Given the description of an element on the screen output the (x, y) to click on. 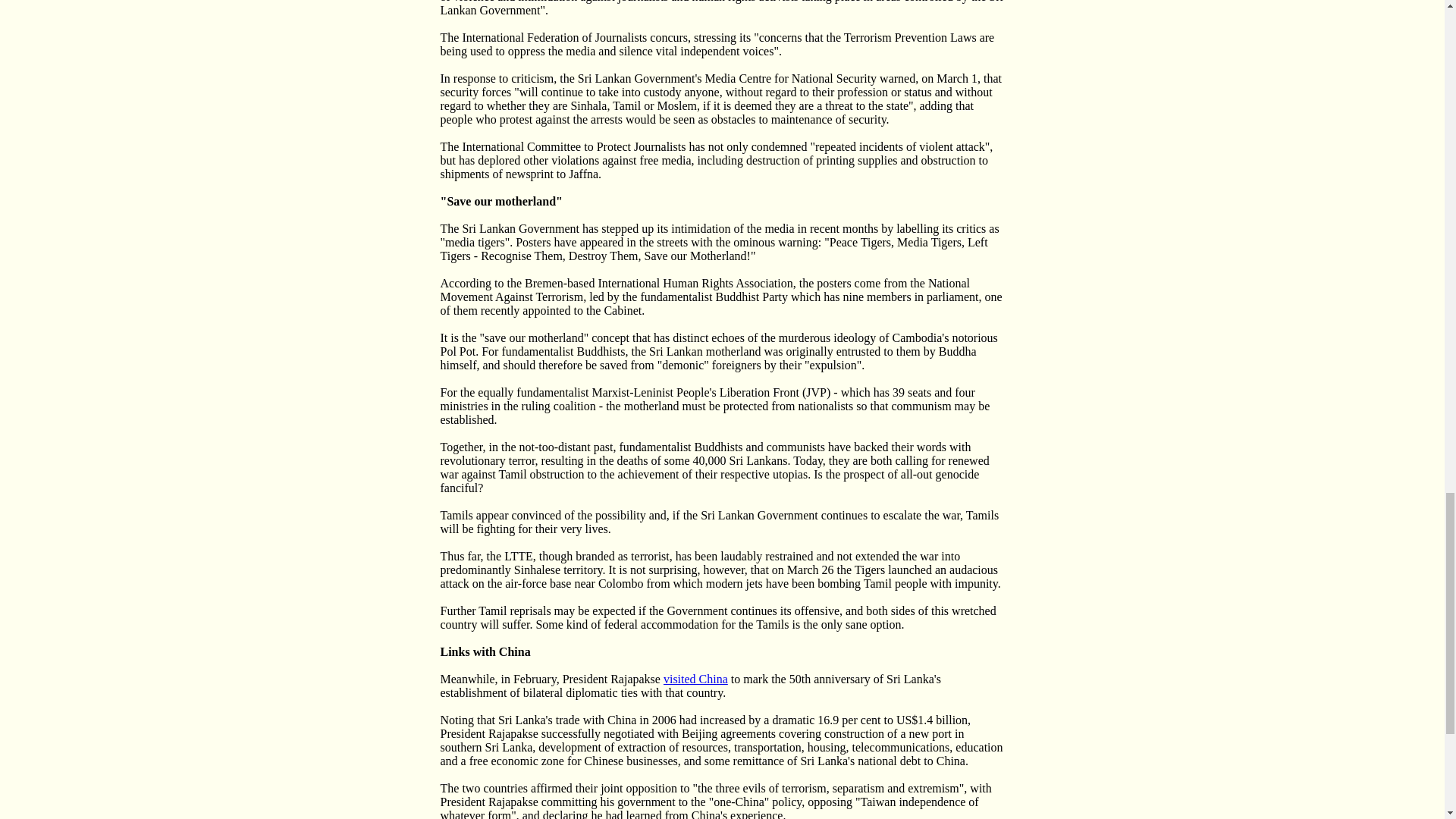
visited China (695, 678)
